Given the description of an element on the screen output the (x, y) to click on. 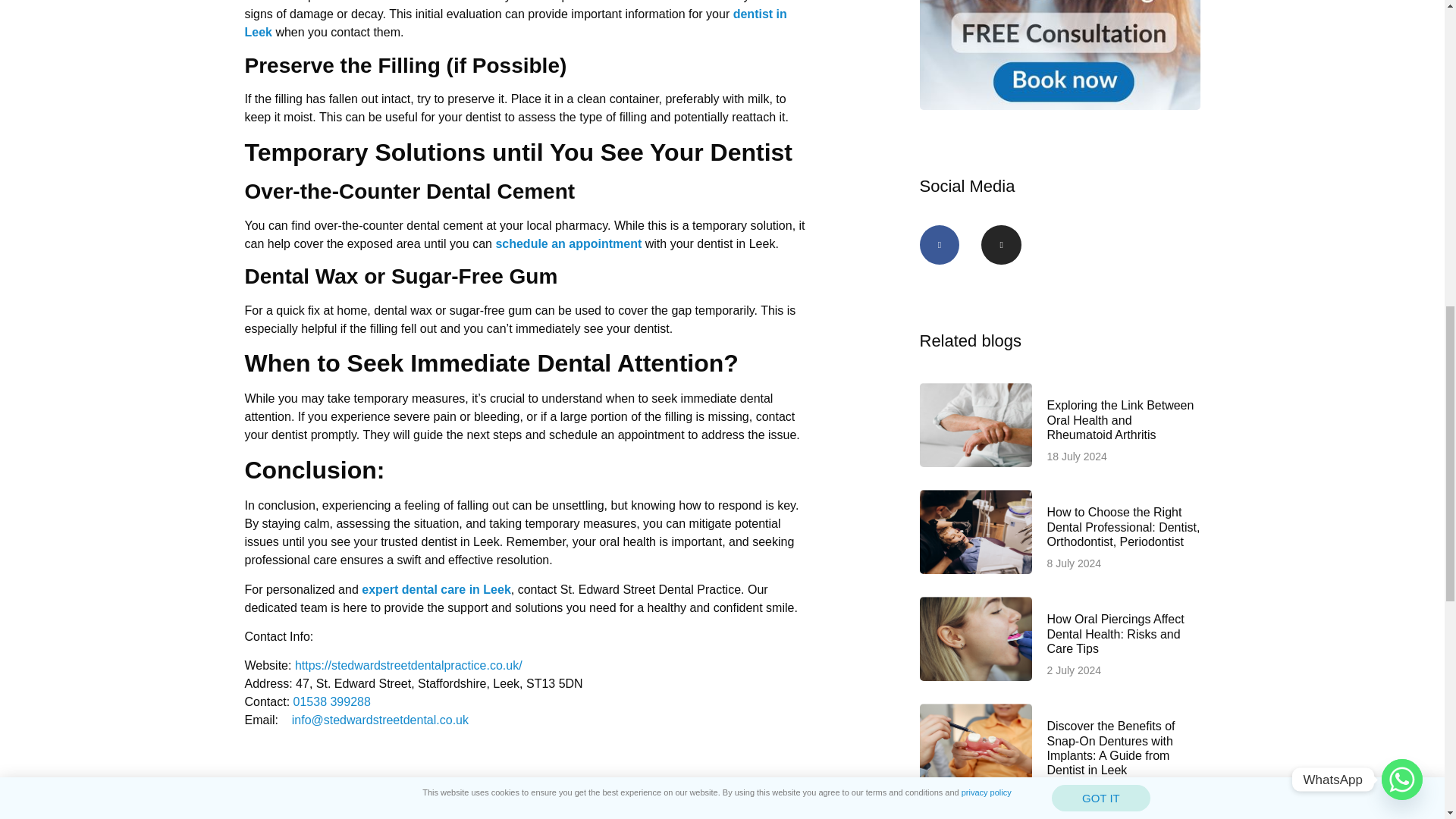
01538 399288 (332, 701)
schedule an appointment (568, 243)
dentist in Leek (515, 22)
expert dental care in Leek (436, 588)
